Given the description of an element on the screen output the (x, y) to click on. 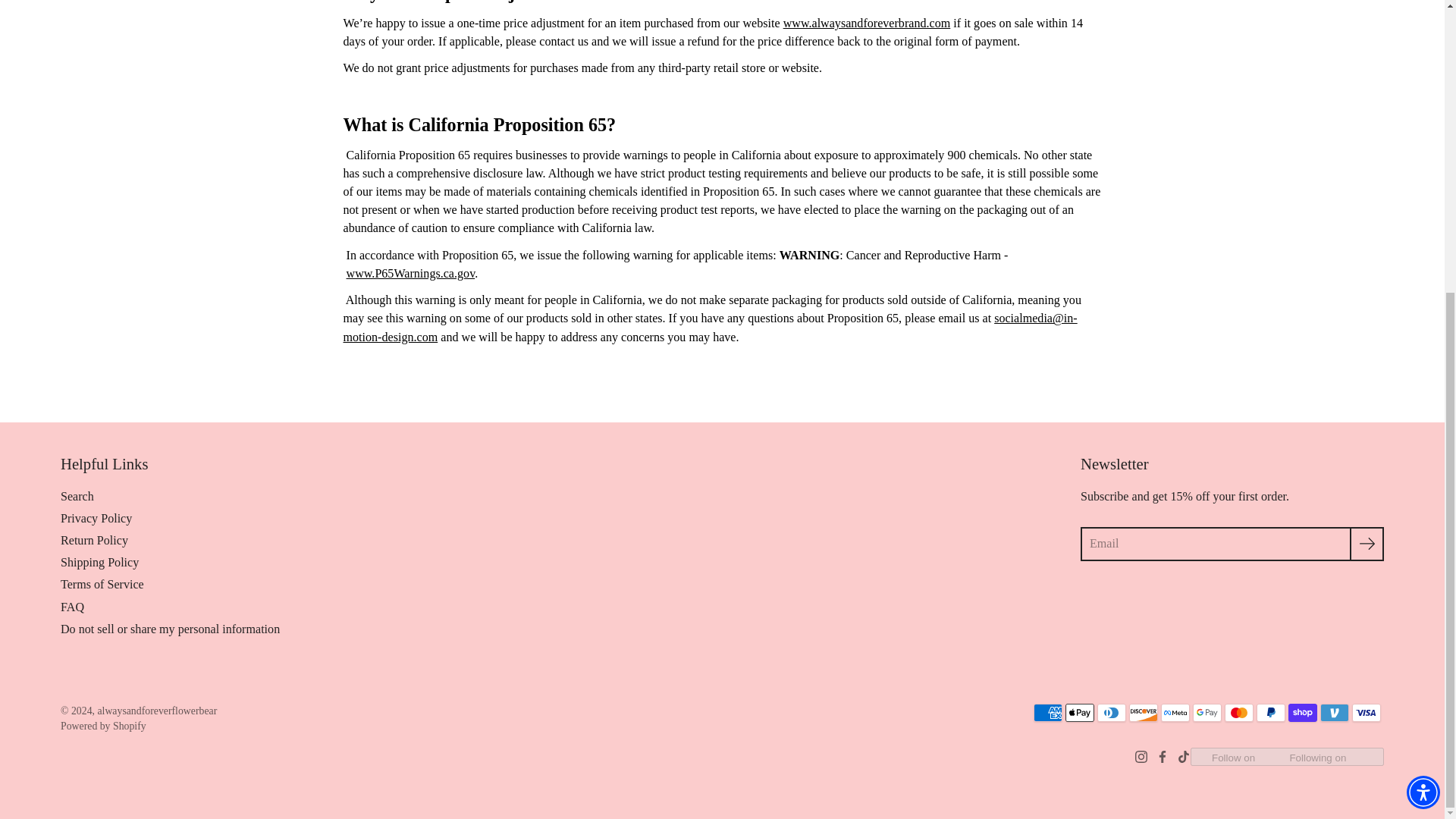
Google Pay (1206, 712)
Visa (1366, 712)
American Express (1047, 712)
Venmo (1334, 712)
Shop Pay (1302, 712)
Diners Club (1111, 712)
Meta Pay (1174, 712)
Accessibility Menu (1422, 345)
Mastercard (1238, 712)
Discover (1143, 712)
